Given the description of an element on the screen output the (x, y) to click on. 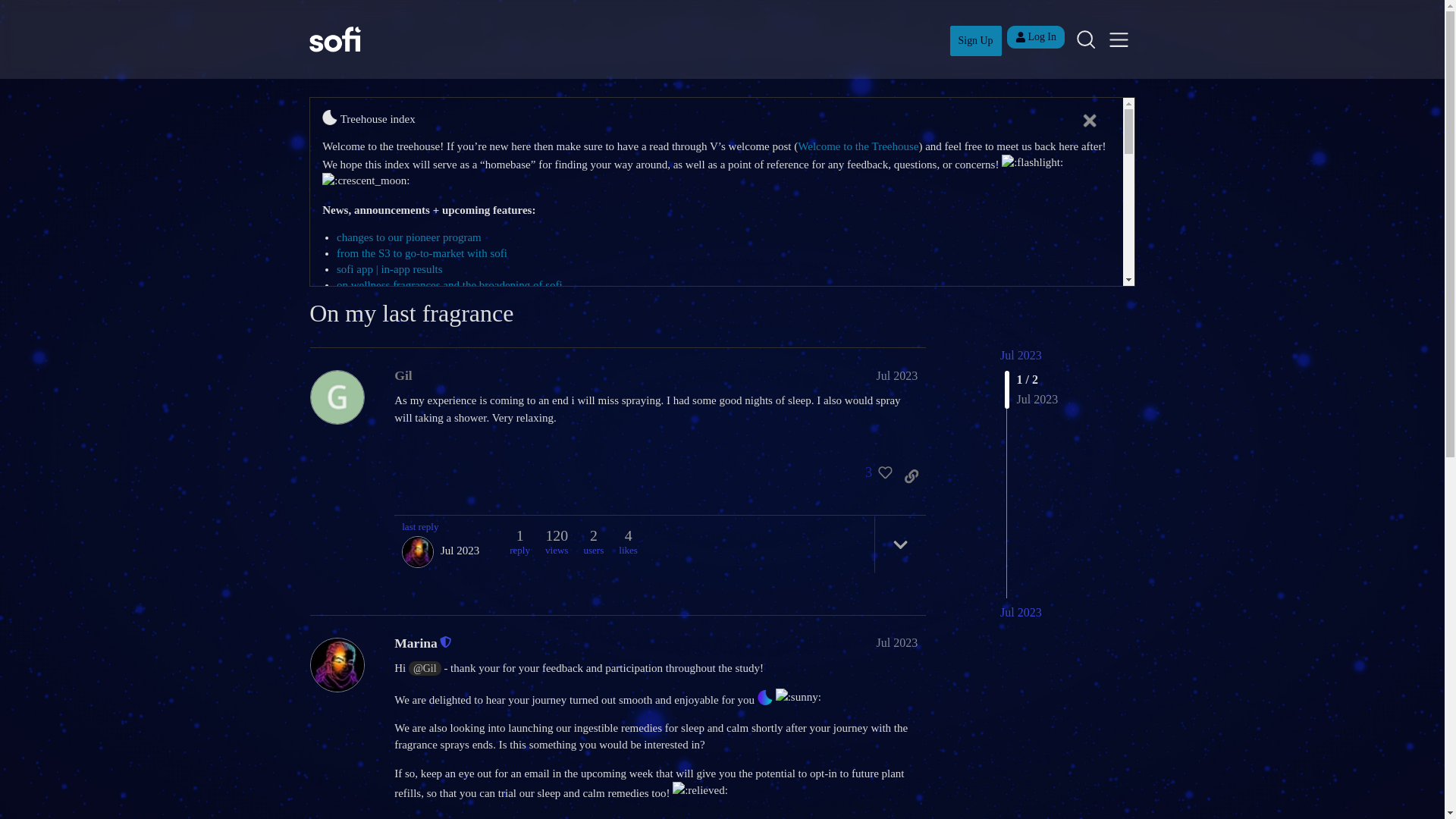
on science (360, 451)
3 people liked this post (874, 476)
ode to our pioneers (379, 592)
On my last fragrance (410, 312)
3 (874, 476)
Log In (1035, 36)
on valerian (361, 505)
sofi.health blog (371, 694)
on ashwagandha (374, 537)
menu (1118, 39)
Jul 2023 (1021, 612)
Post date (897, 374)
Welcome to the Treehouse (857, 146)
from the S3 to go-to-market with sofi (421, 253)
Jump to the first post (1021, 354)
